Given the description of an element on the screen output the (x, y) to click on. 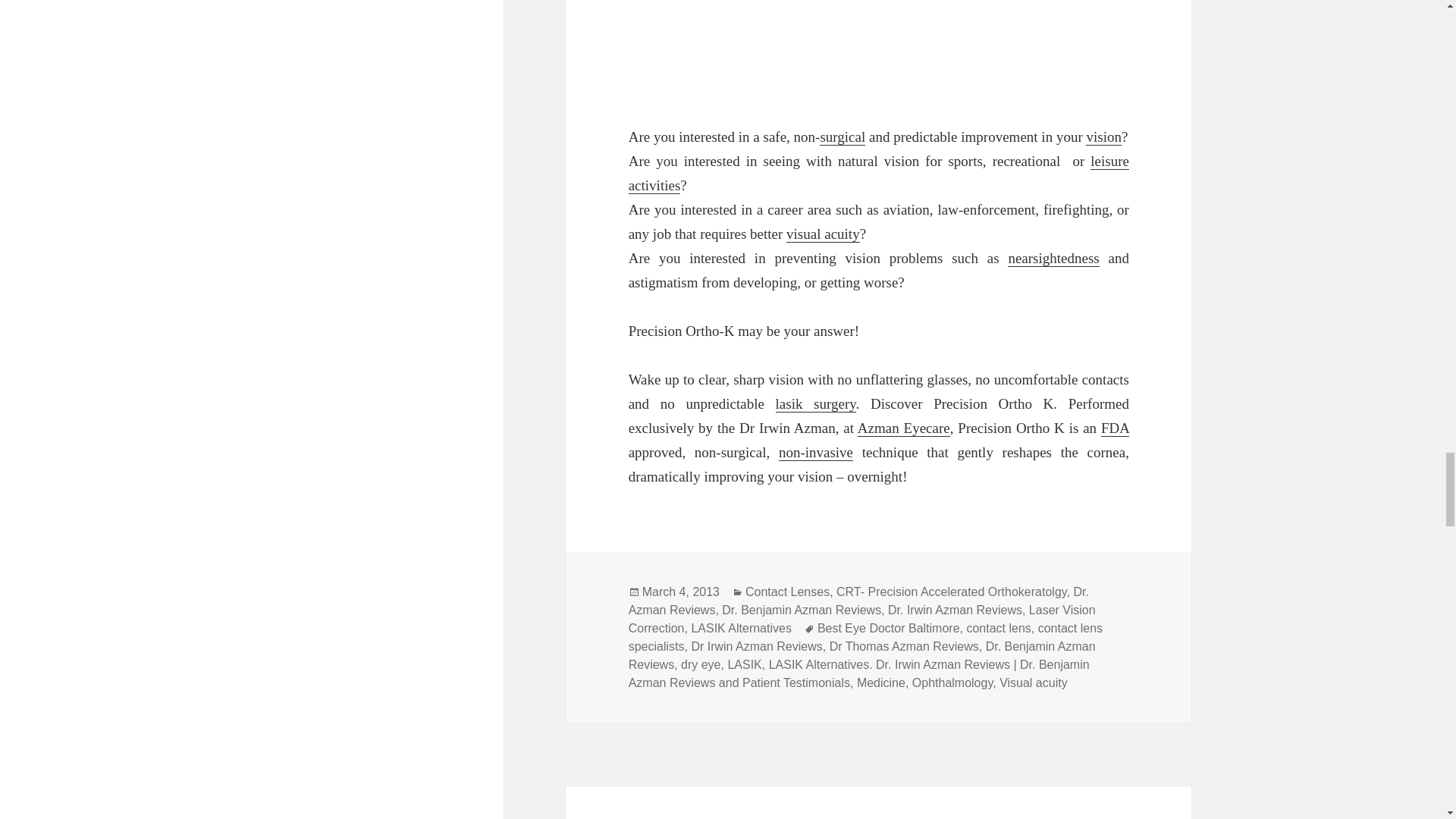
Visual perception (1103, 136)
Surgery (841, 136)
